Given the description of an element on the screen output the (x, y) to click on. 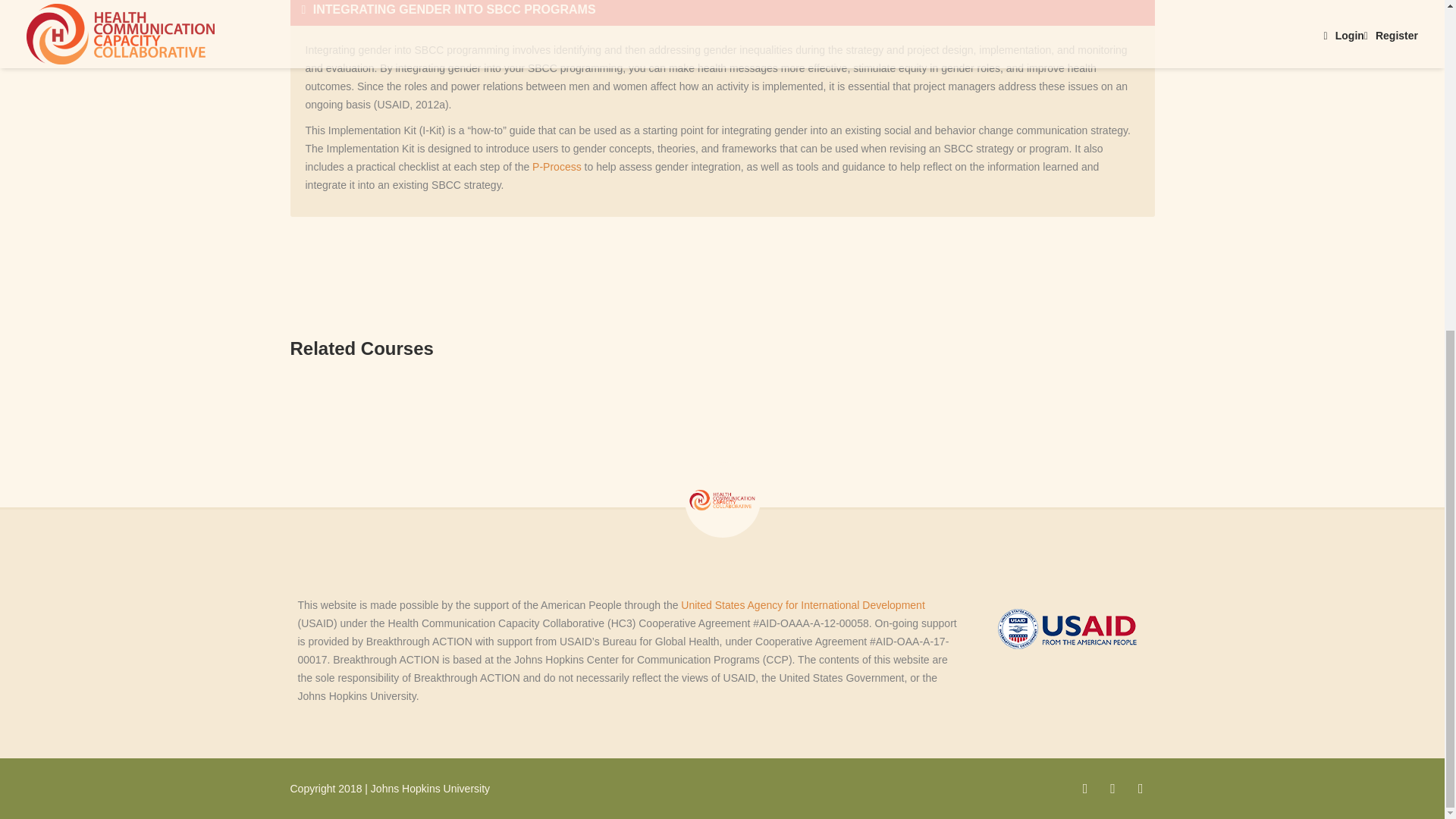
P-Process (556, 166)
United States Agency for International Development (802, 604)
Footer Logo (722, 500)
